Given the description of an element on the screen output the (x, y) to click on. 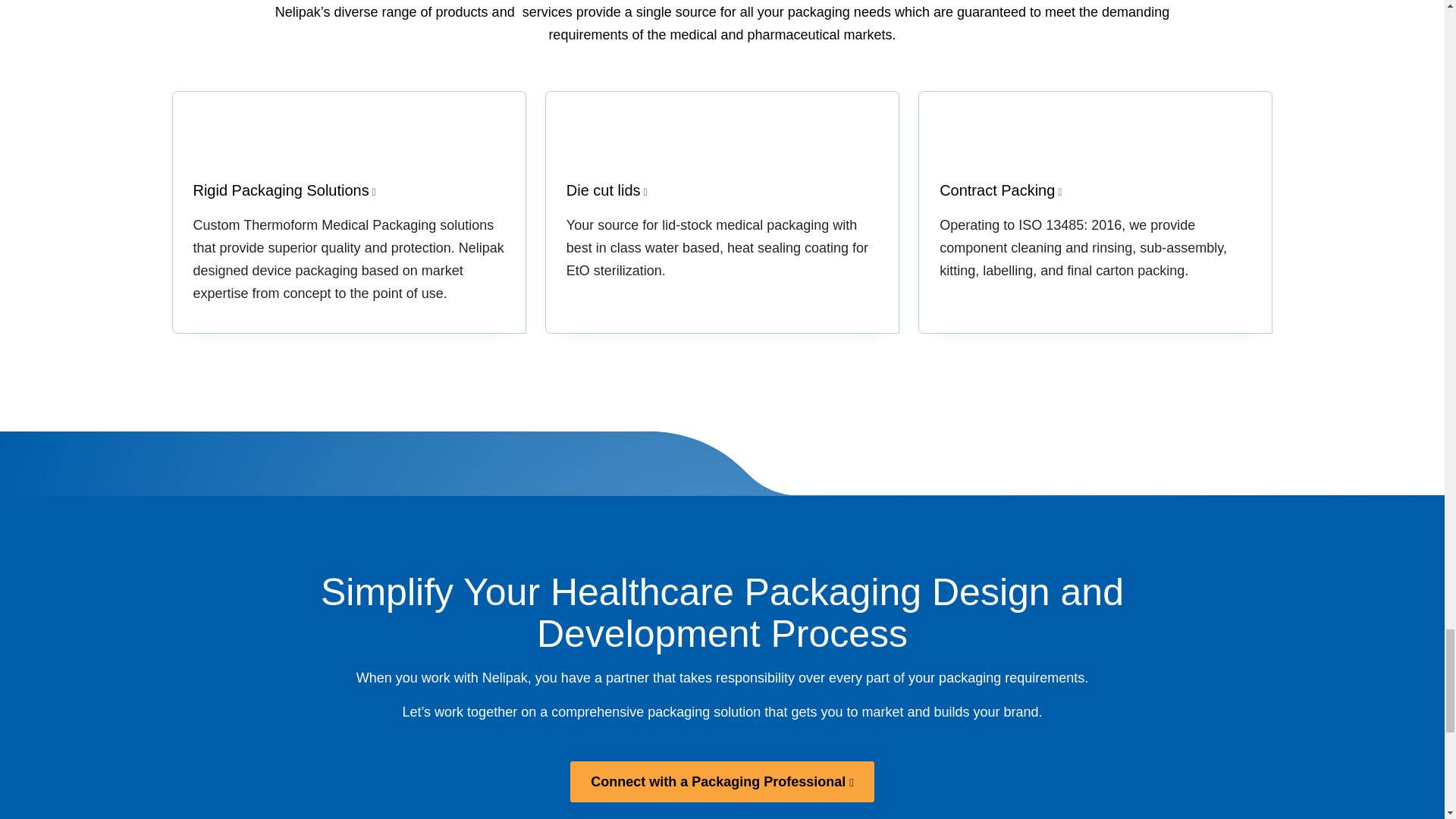
Outsourcing Services (1094, 211)
